Given the description of an element on the screen output the (x, y) to click on. 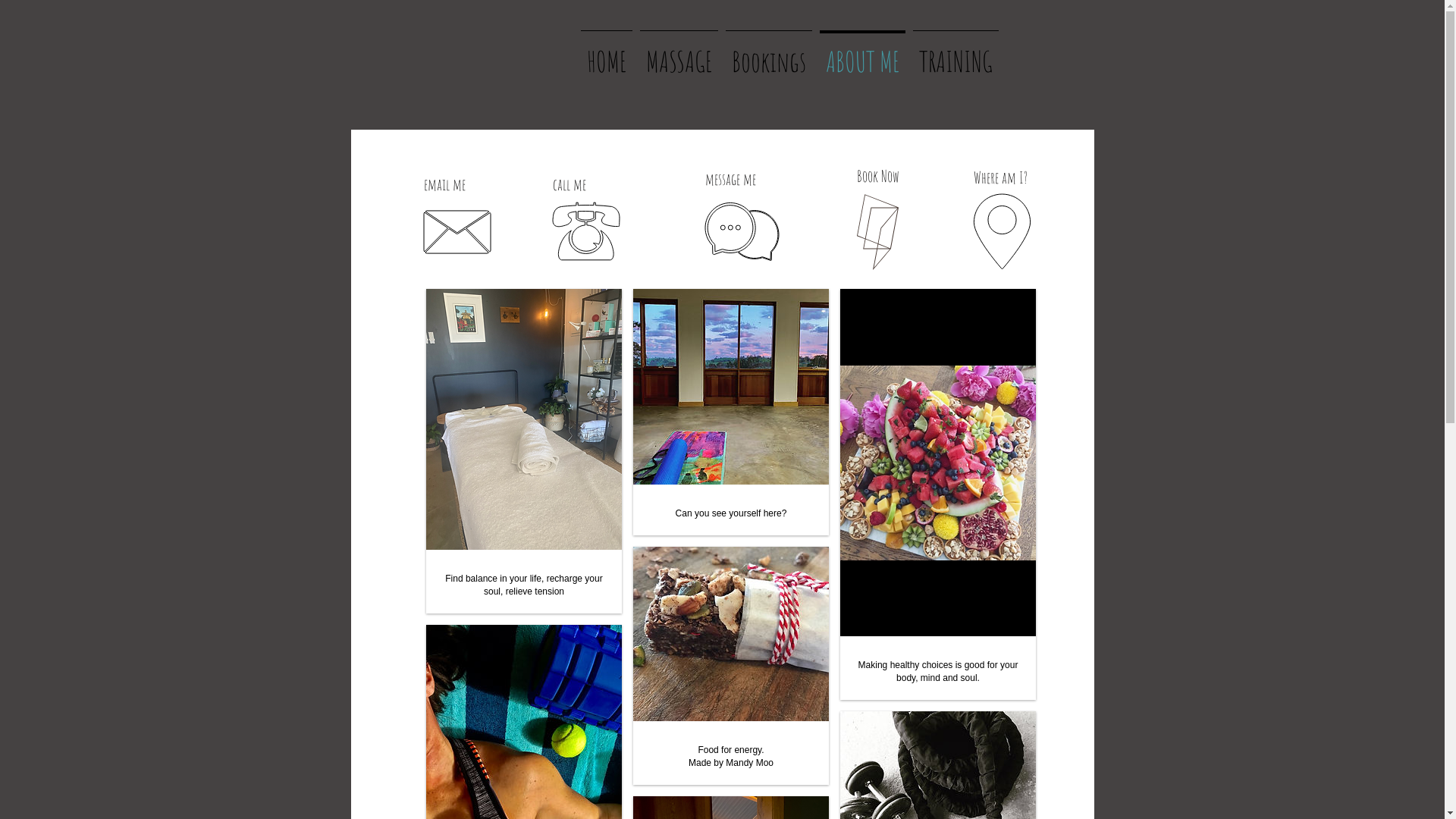
TRAINING Element type: text (954, 54)
HOME Element type: text (605, 54)
Bookings Element type: text (768, 54)
ABOUT ME Element type: text (862, 54)
MASSAGE Element type: text (678, 54)
